Given the description of an element on the screen output the (x, y) to click on. 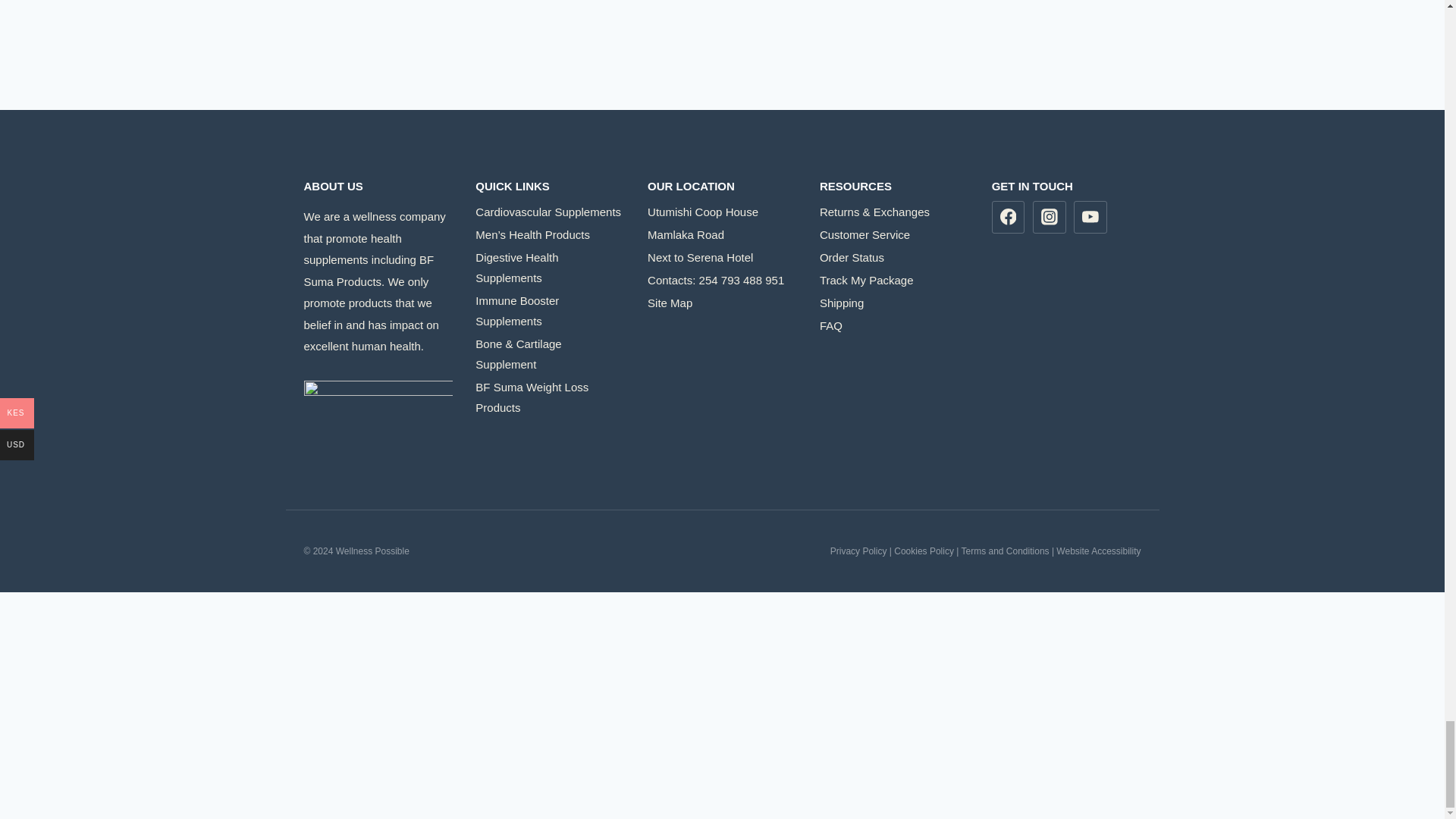
Cardiovascular Supplements (550, 211)
